Given the description of an element on the screen output the (x, y) to click on. 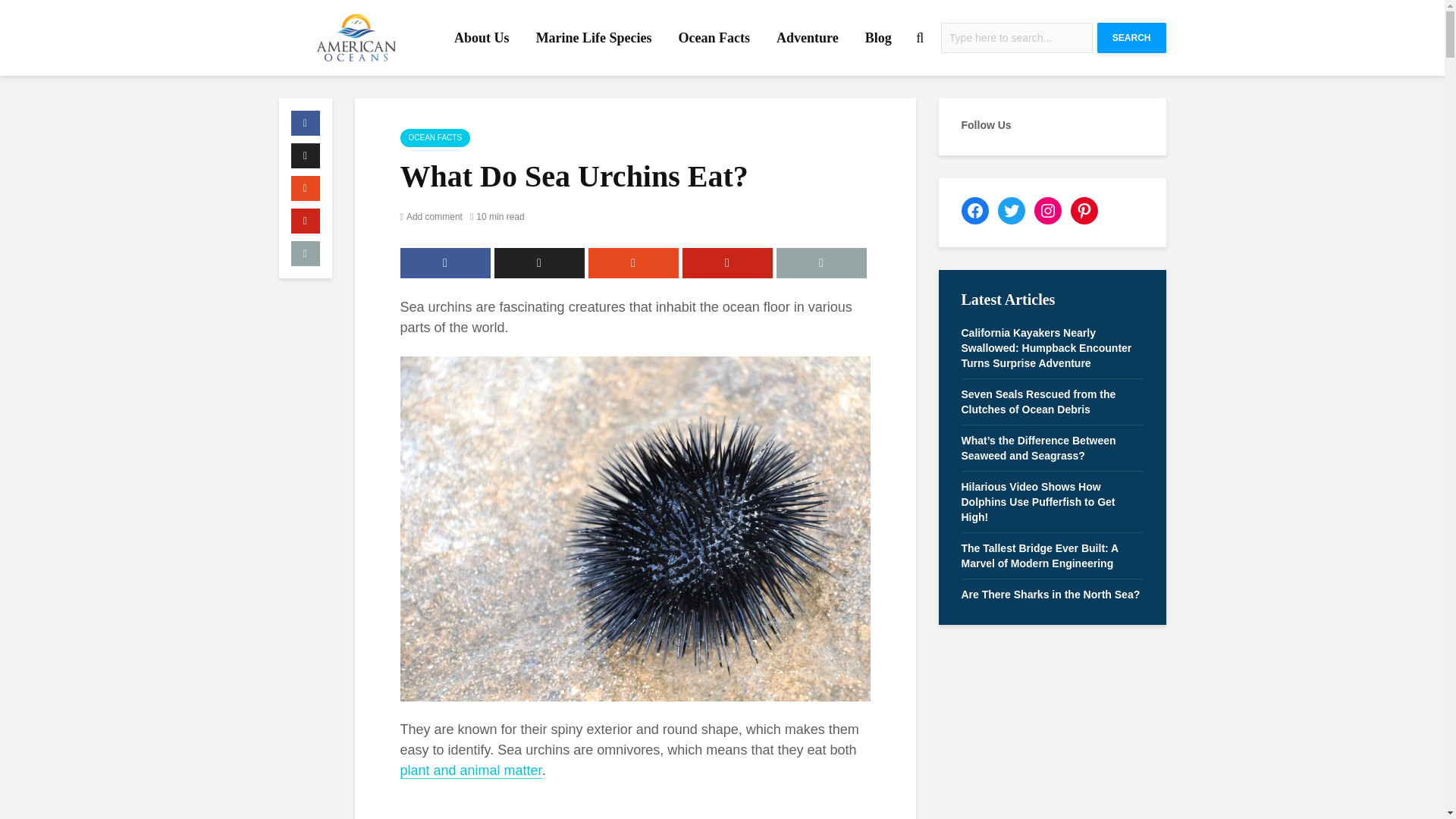
Marine Life Species (593, 37)
Blog (877, 37)
SEARCH (1131, 37)
Ocean Facts (713, 37)
About Us (481, 37)
Adventure (807, 37)
